Given the description of an element on the screen output the (x, y) to click on. 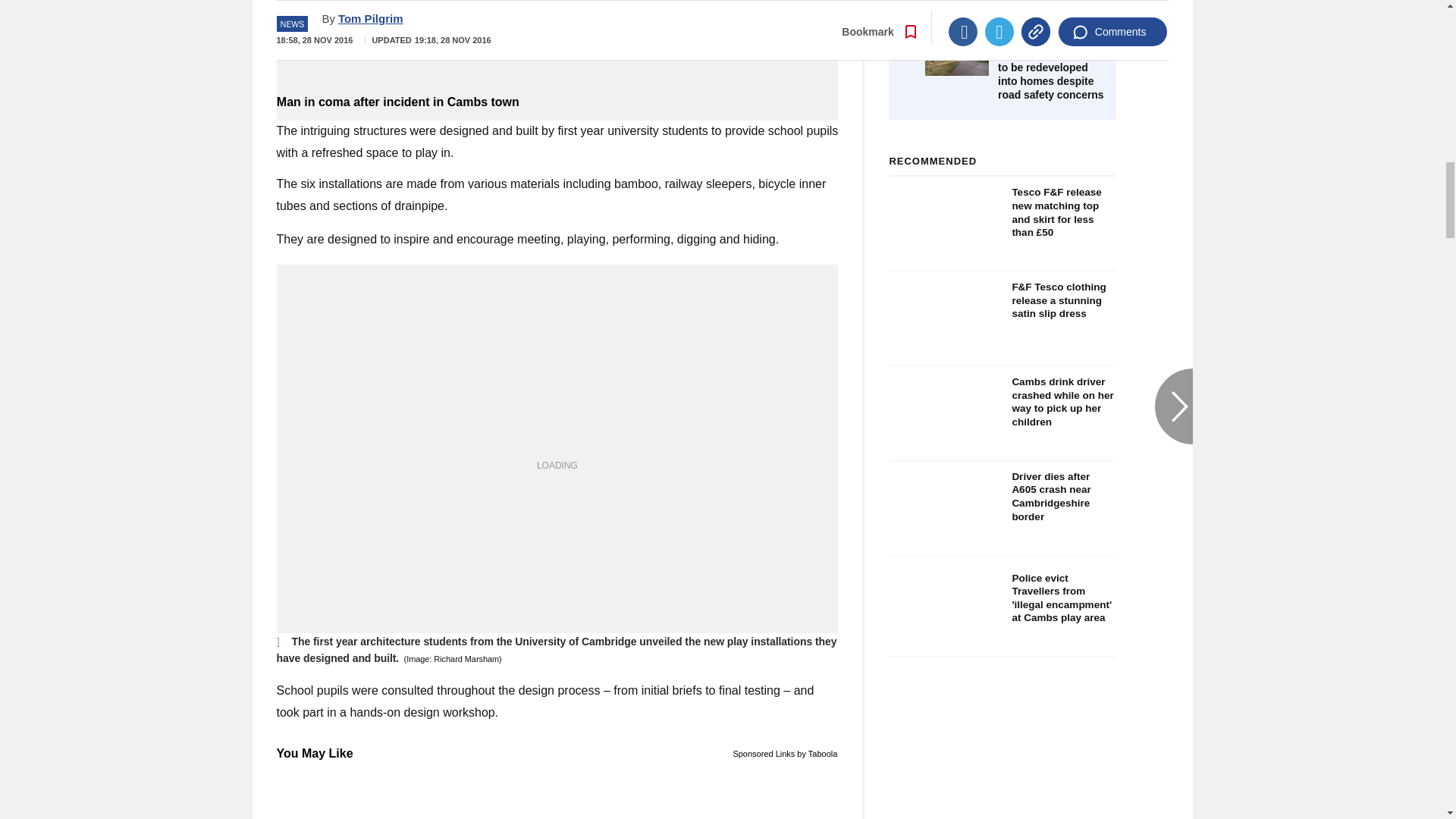
Man in coma after incident in Cambs town (557, 45)
Man in coma after incident in Cambs town (557, 102)
